Given the description of an element on the screen output the (x, y) to click on. 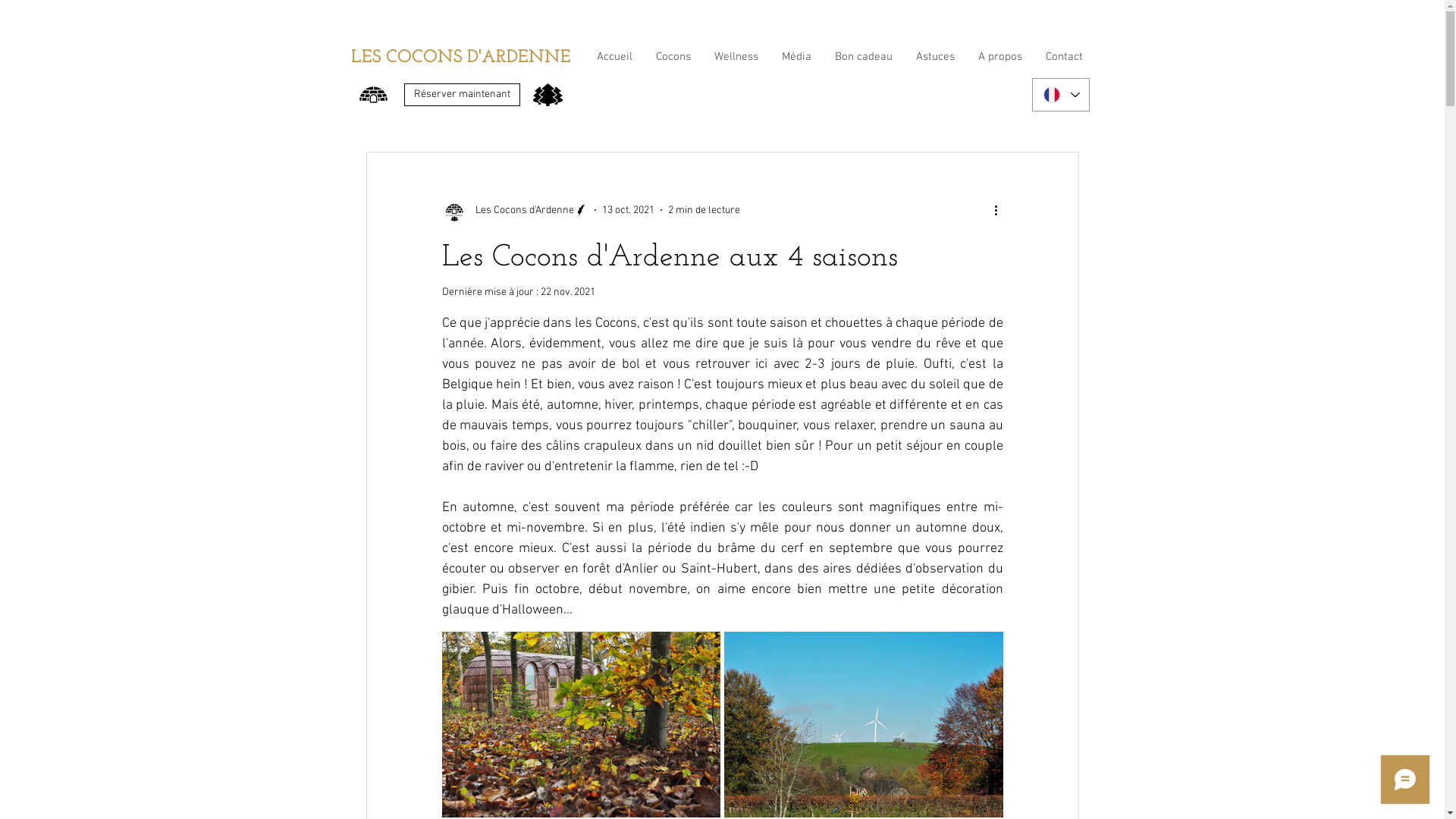
LES COCONS D'ARDENNE Element type: text (460, 57)
A propos Element type: text (999, 57)
Bon cadeau Element type: text (862, 57)
Accueil Element type: text (613, 57)
Wellness Element type: text (735, 57)
Astuces Element type: text (934, 57)
Contact Element type: text (1062, 57)
Cocons Element type: text (672, 57)
